Given the description of an element on the screen output the (x, y) to click on. 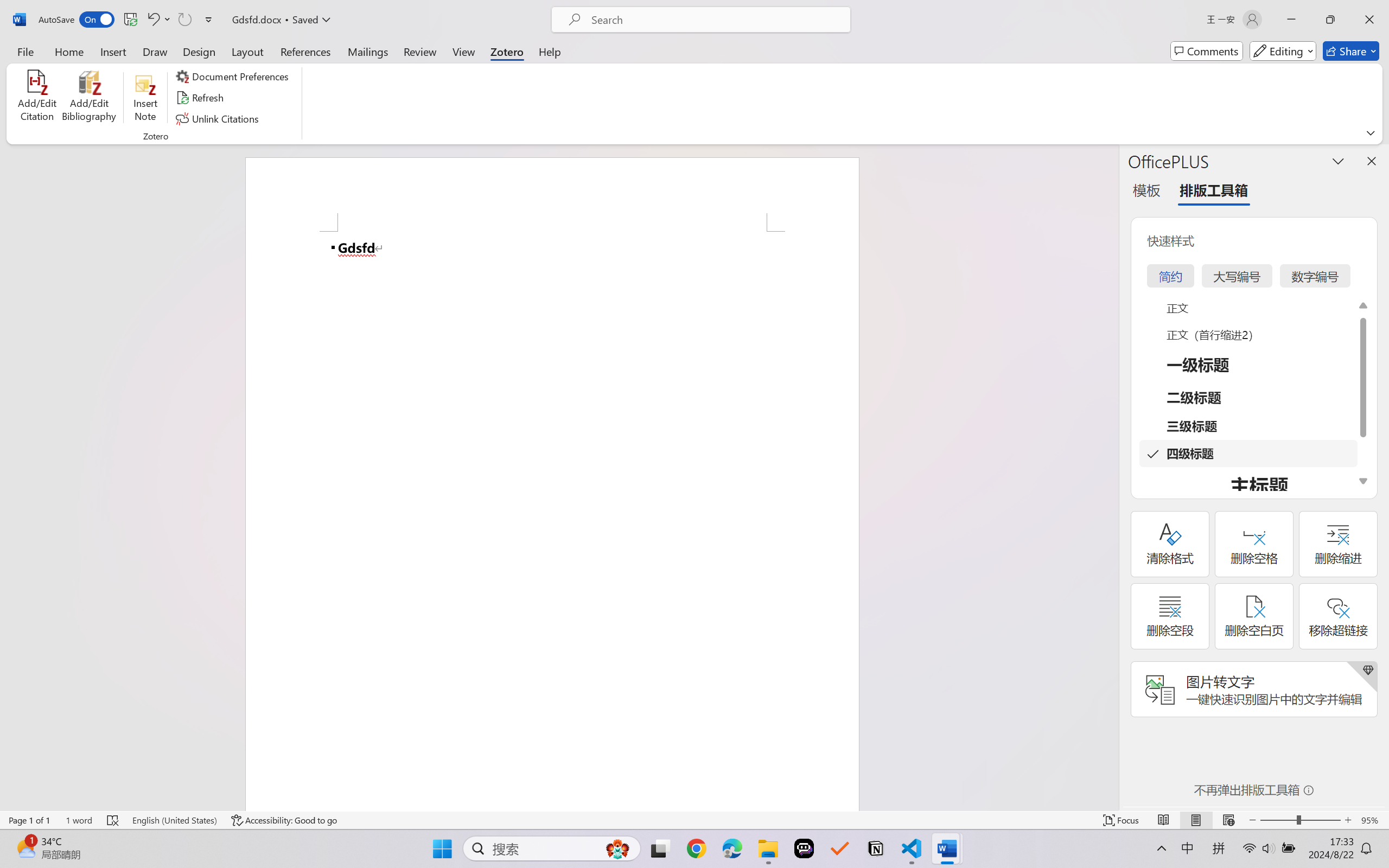
Undo <ApplyStyleToDoc>b__0 (152, 19)
Undo <ApplyStyleToDoc>b__0 (158, 19)
